Given the description of an element on the screen output the (x, y) to click on. 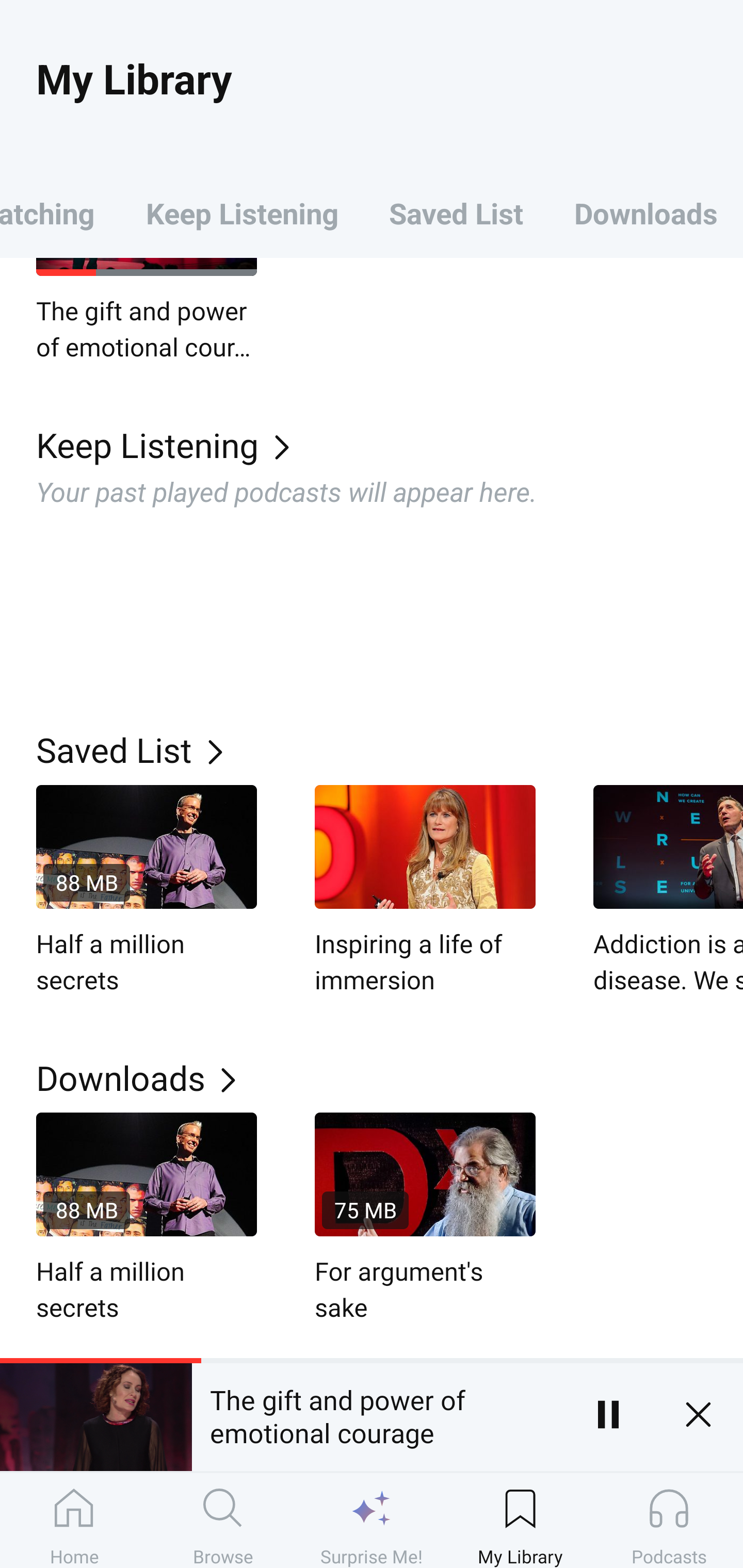
Keep Watching (60, 212)
Keep Listening (242, 212)
Saved List (456, 212)
Downloads (646, 212)
The gift and power of emotional courage (146, 310)
Keep Listening (389, 444)
Saved List (389, 749)
88 MB Half a million secrets (146, 891)
Inspiring a life of immersion (425, 891)
Downloads (389, 1077)
88 MB Half a million secrets (146, 1218)
75 MB For argument's sake (425, 1218)
The gift and power of emotional courage (377, 1413)
Home (74, 1520)
Browse (222, 1520)
Surprise Me! (371, 1520)
My Library (519, 1520)
Podcasts (668, 1520)
